Given the description of an element on the screen output the (x, y) to click on. 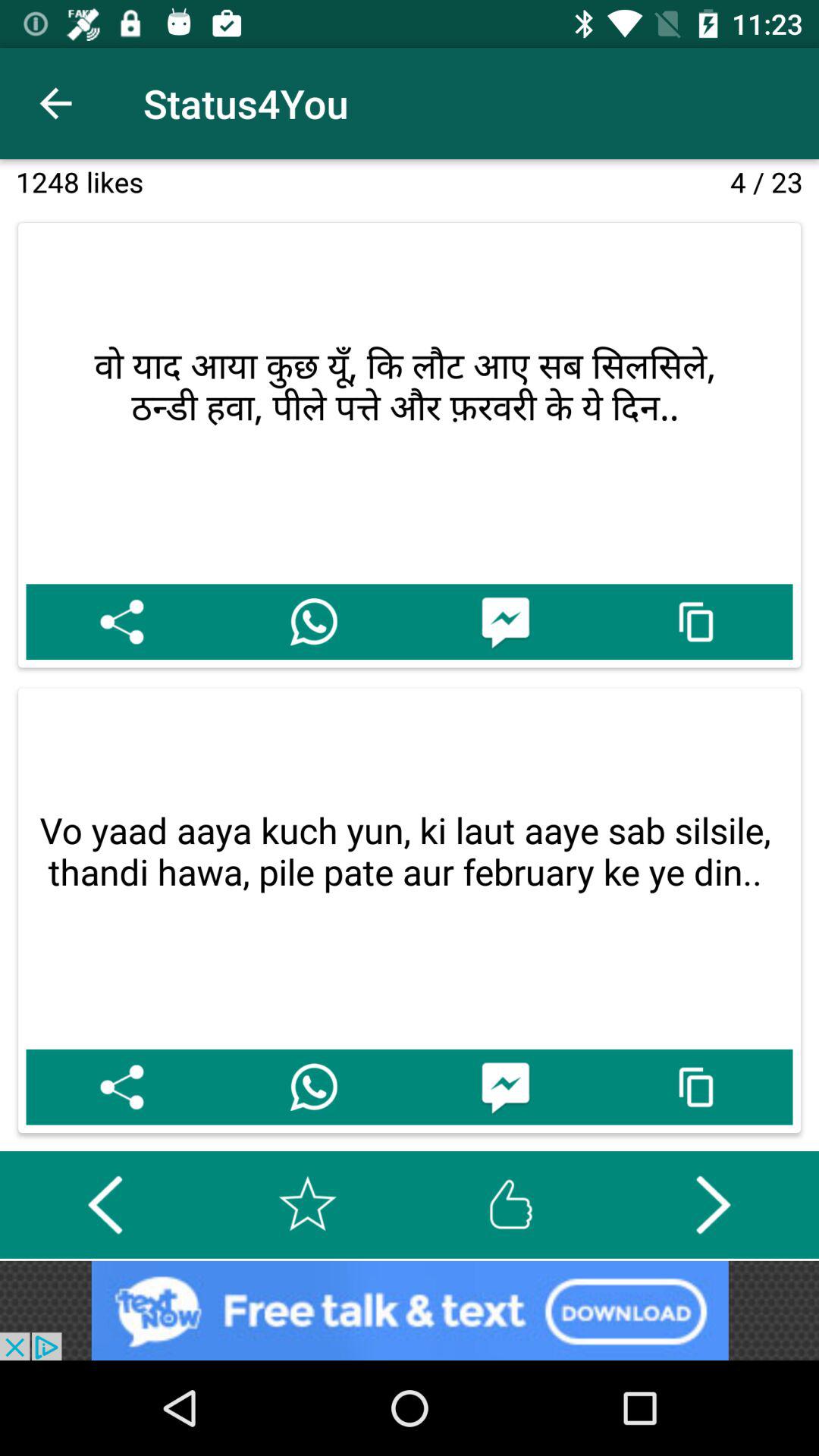
enter telephone call option (313, 1086)
